Given the description of an element on the screen output the (x, y) to click on. 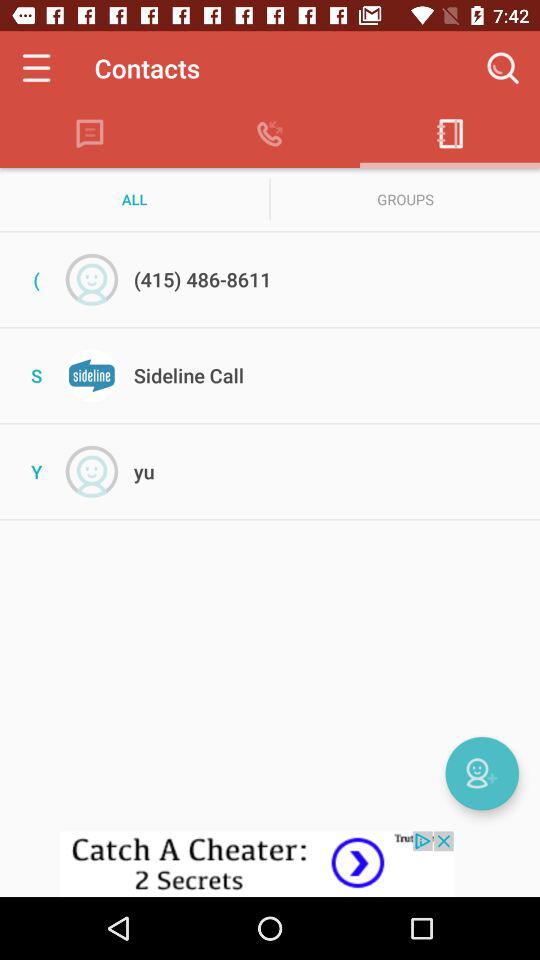
know about the advertisement (270, 864)
